Given the description of an element on the screen output the (x, y) to click on. 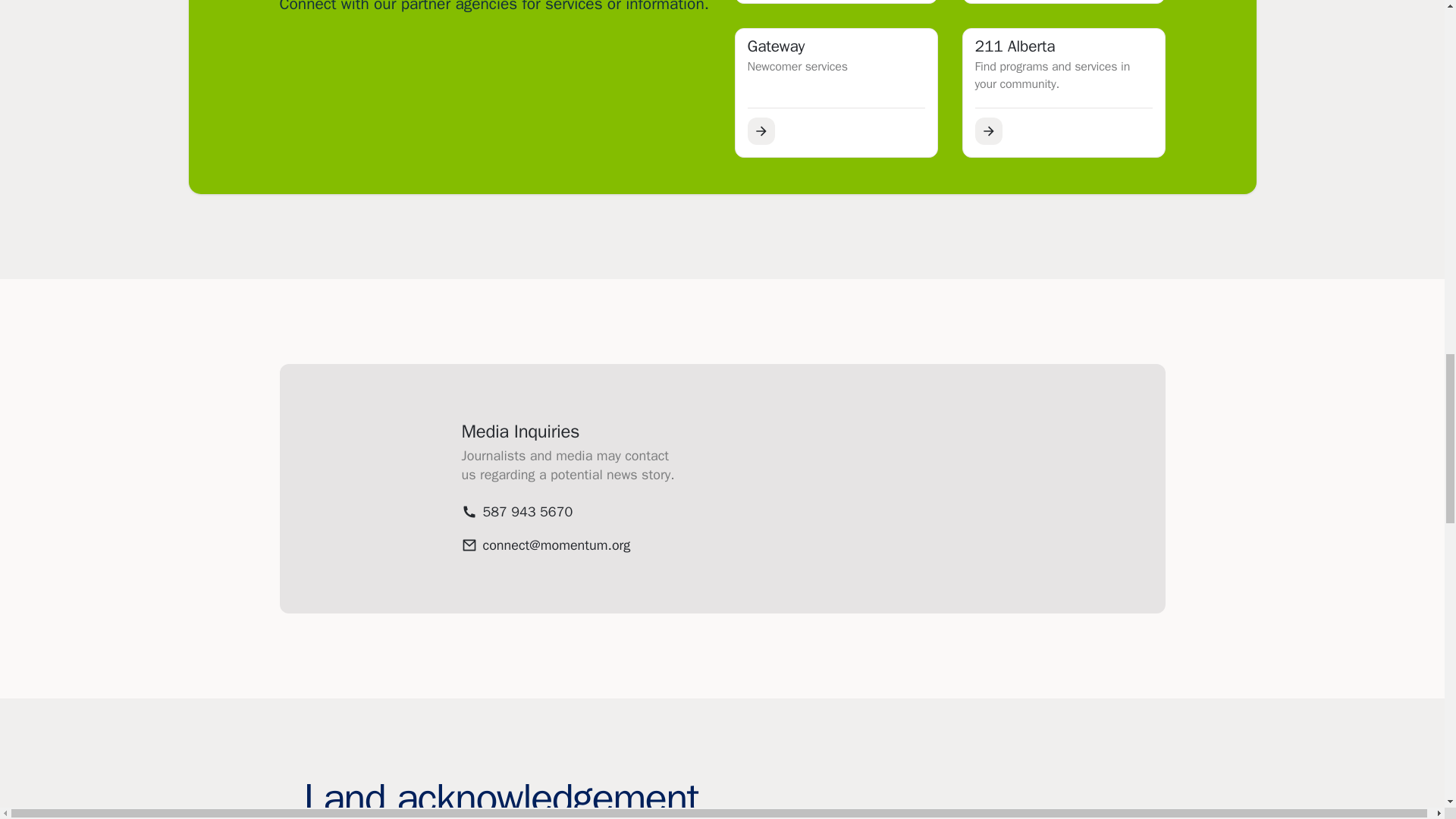
587 943 5670 (1063, 1)
